Given the description of an element on the screen output the (x, y) to click on. 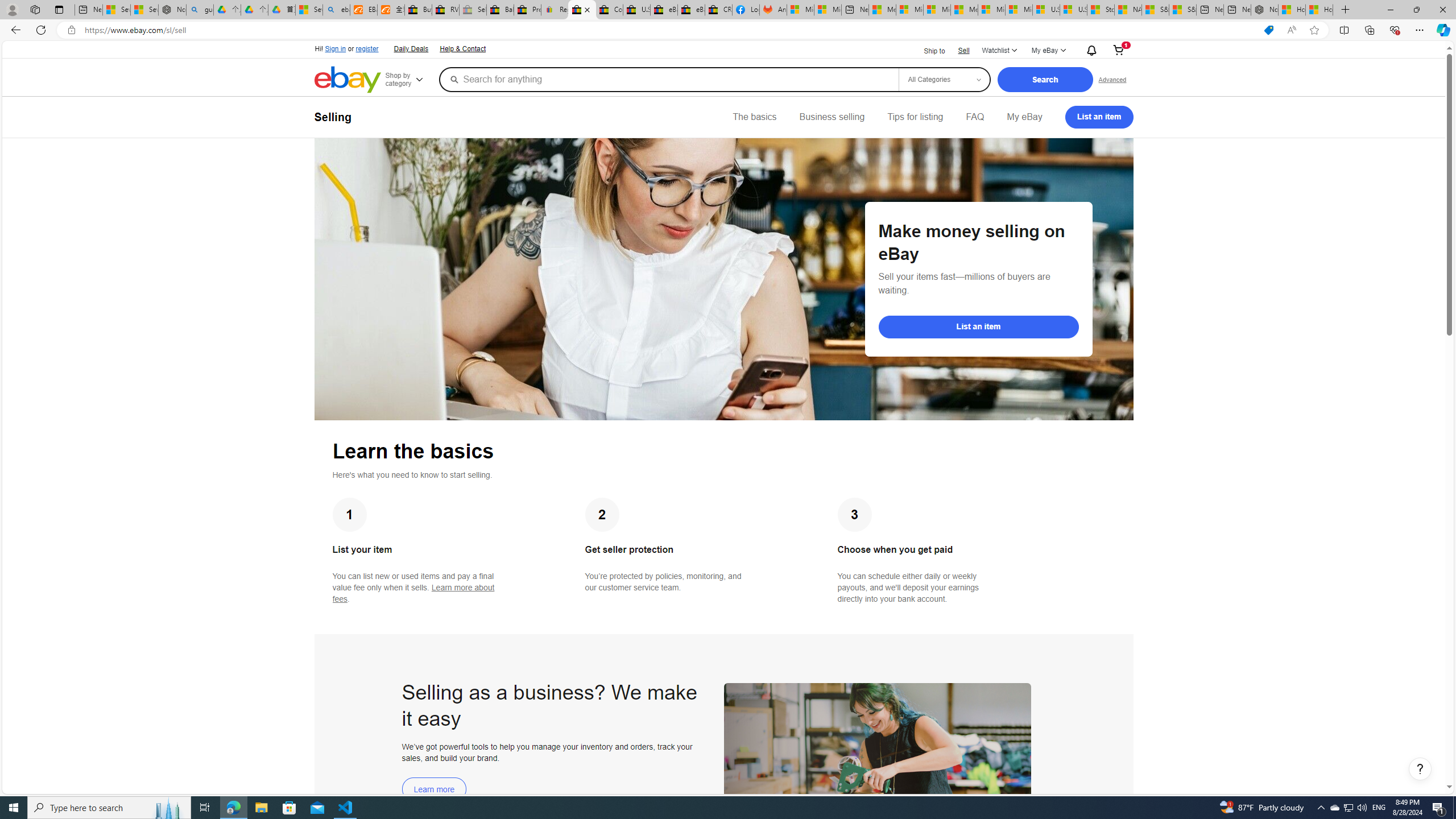
Business selling (831, 116)
Log into Facebook (746, 9)
Consumer Health Data Privacy Policy - eBay Inc. (609, 9)
Microsoft account | Home (936, 9)
List an item (977, 326)
Learn more (434, 788)
Ship to (927, 50)
Help, opens dialogs (1420, 768)
